Given the description of an element on the screen output the (x, y) to click on. 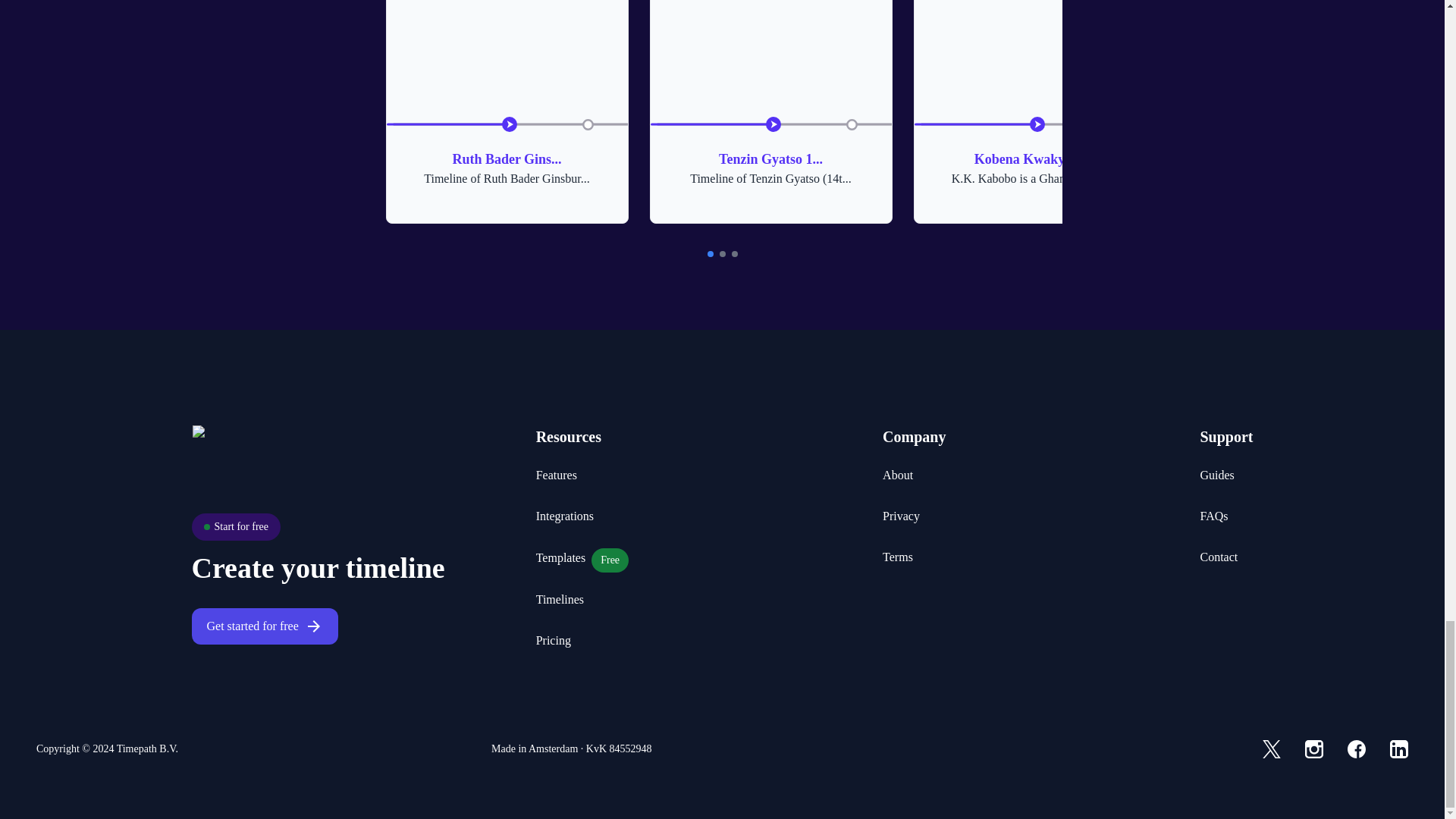
Timelines (1035, 111)
Privacy (559, 599)
Pricing (901, 515)
Terms (552, 640)
Get started for free (897, 556)
Guides (252, 626)
FAQs (507, 111)
Features (1216, 475)
Support (1213, 515)
Integrations (555, 475)
About (1225, 436)
Contact (564, 515)
Templates (897, 475)
